Given the description of an element on the screen output the (x, y) to click on. 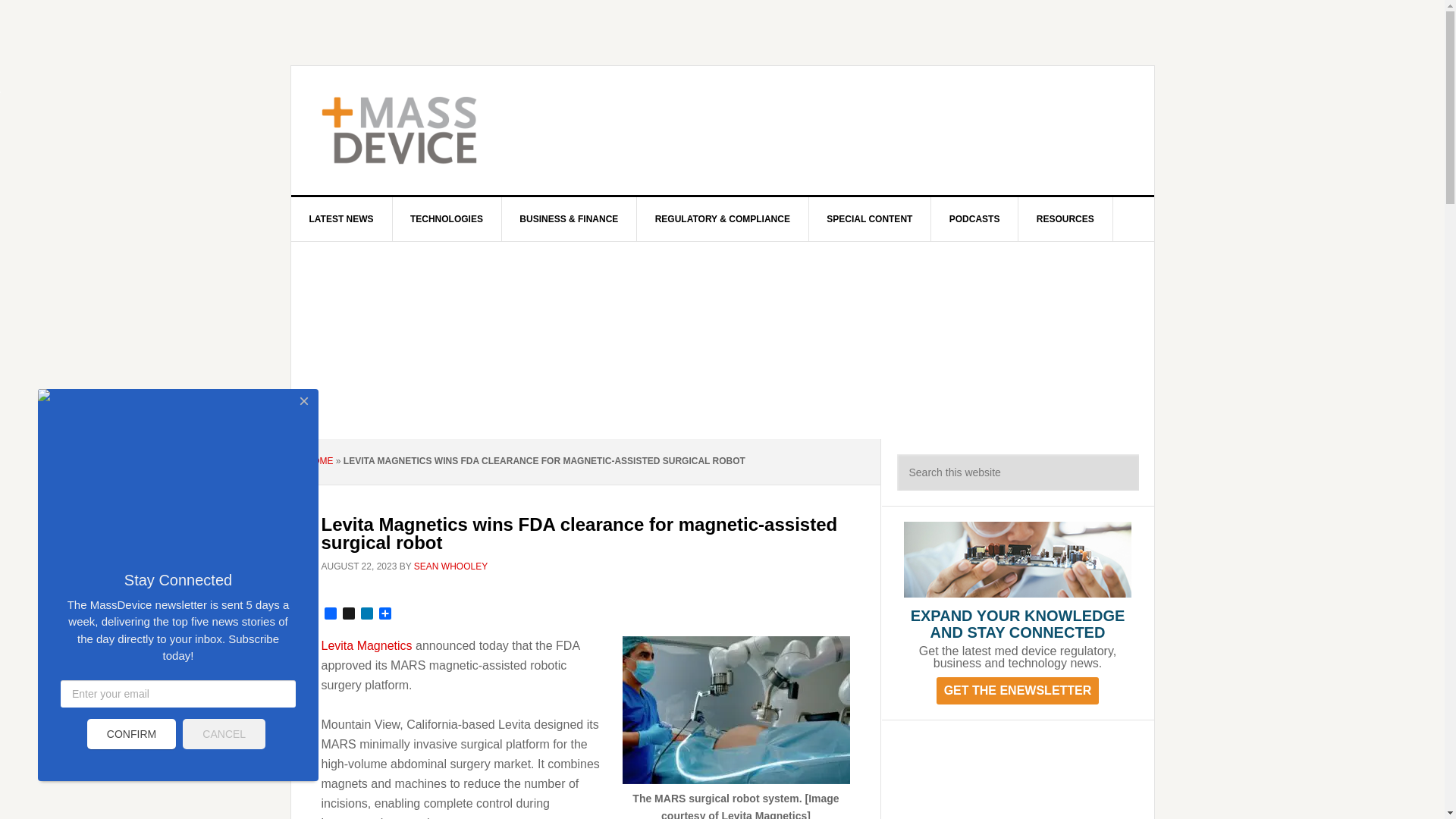
LATEST NEWS (342, 218)
SPECIAL CONTENT (869, 218)
TECHNOLOGIES (446, 218)
MASSDEVICE (419, 130)
X (348, 614)
PODCASTS (975, 218)
3rd party ad content (848, 130)
LinkedIn (366, 614)
Facebook (330, 614)
3rd party ad content (1017, 777)
